Given the description of an element on the screen output the (x, y) to click on. 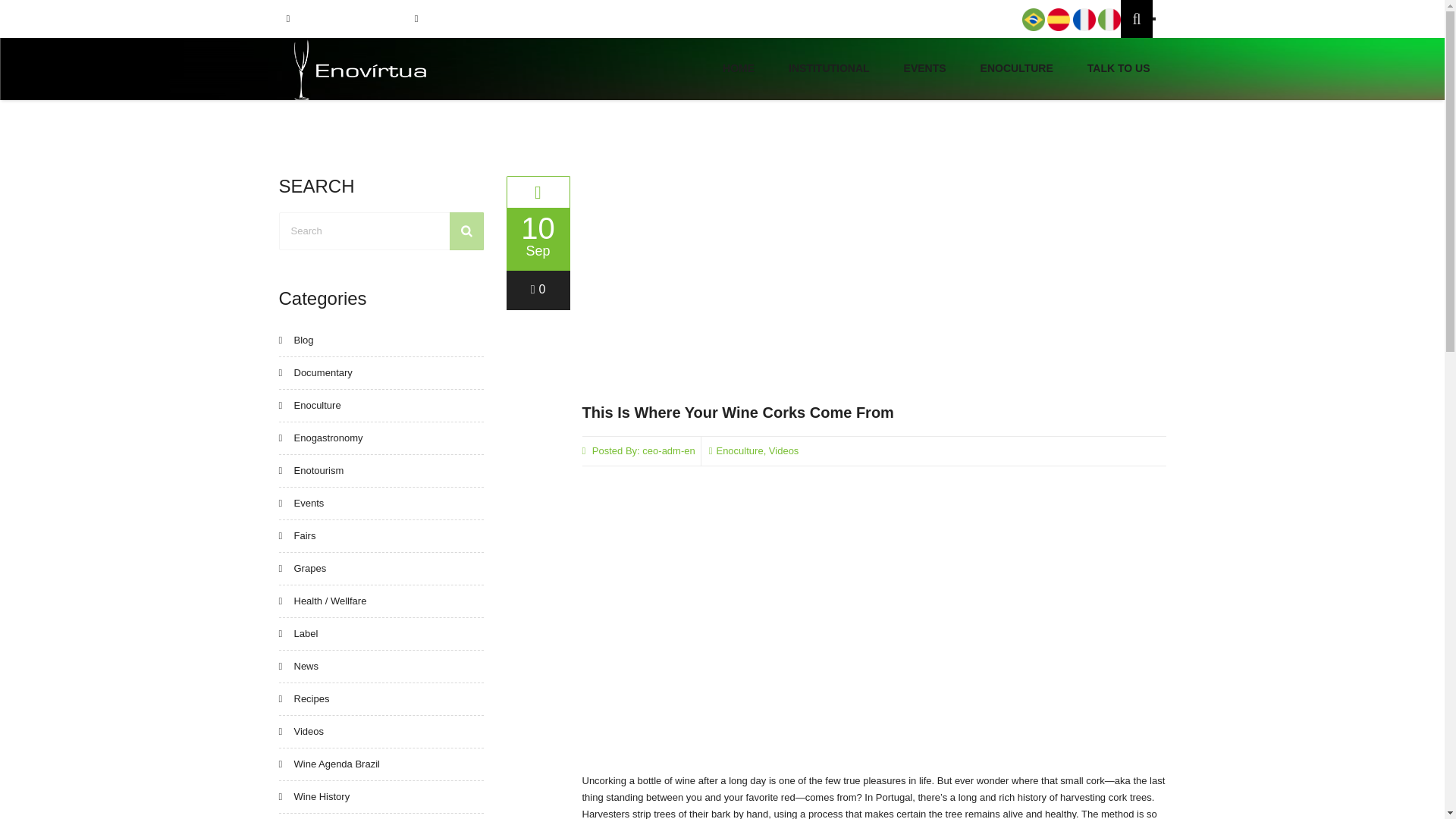
Italiano (1109, 19)
loja.enovirtua.com (463, 18)
ENOCULTURE (1015, 68)
EVENTS (925, 68)
Videos (783, 450)
ceo-adm-en (668, 450)
This Is Where Your Wine Corks Come From (538, 192)
This Is Where Your Wine Corks Come From (737, 412)
Brasil (1033, 19)
0 (538, 288)
Enovirtua (360, 69)
This Is Where Your Wine Corks Come From (737, 412)
Espanhol (1058, 19)
This Is Where Your Wine Corks Come From (874, 280)
TALK TO US (1118, 68)
